Given the description of an element on the screen output the (x, y) to click on. 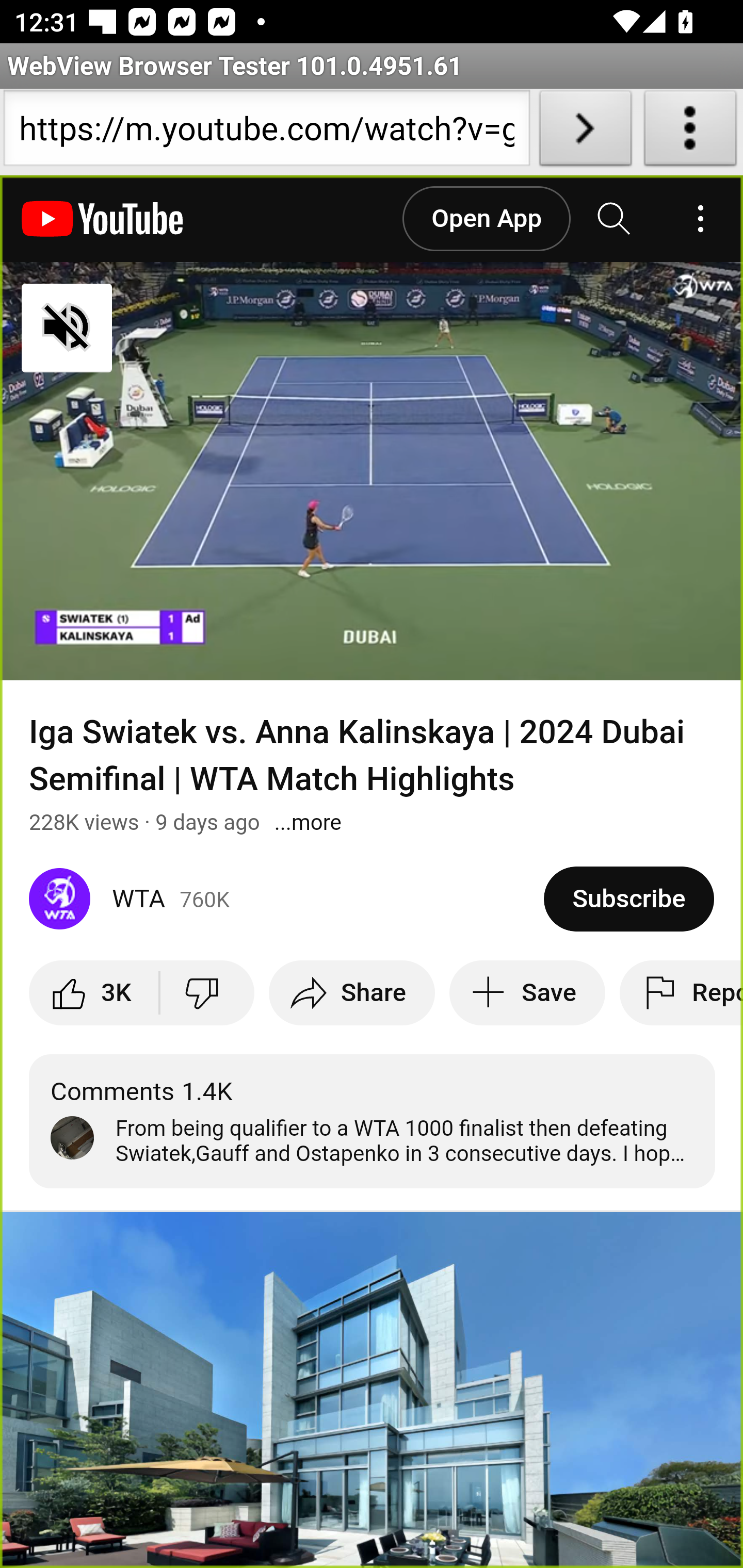
Load URL (585, 132)
About WebView (690, 132)
YouTube (102, 219)
Search YouTube (614, 219)
Account (700, 219)
Open App (485, 218)
YouTube Video Player TAP TO UNMUTE (371, 470)
TAP TO UNMUTE (173, 328)
Show more (307, 822)
Subscribe to WTA. (627, 898)
WTA (286, 899)
like this video along with 3,088 other people (94, 992)
Dislike this video (206, 992)
Share (351, 992)
Save to playlist (527, 992)
Report (680, 992)
Comments (372, 1121)
